Given the description of an element on the screen output the (x, y) to click on. 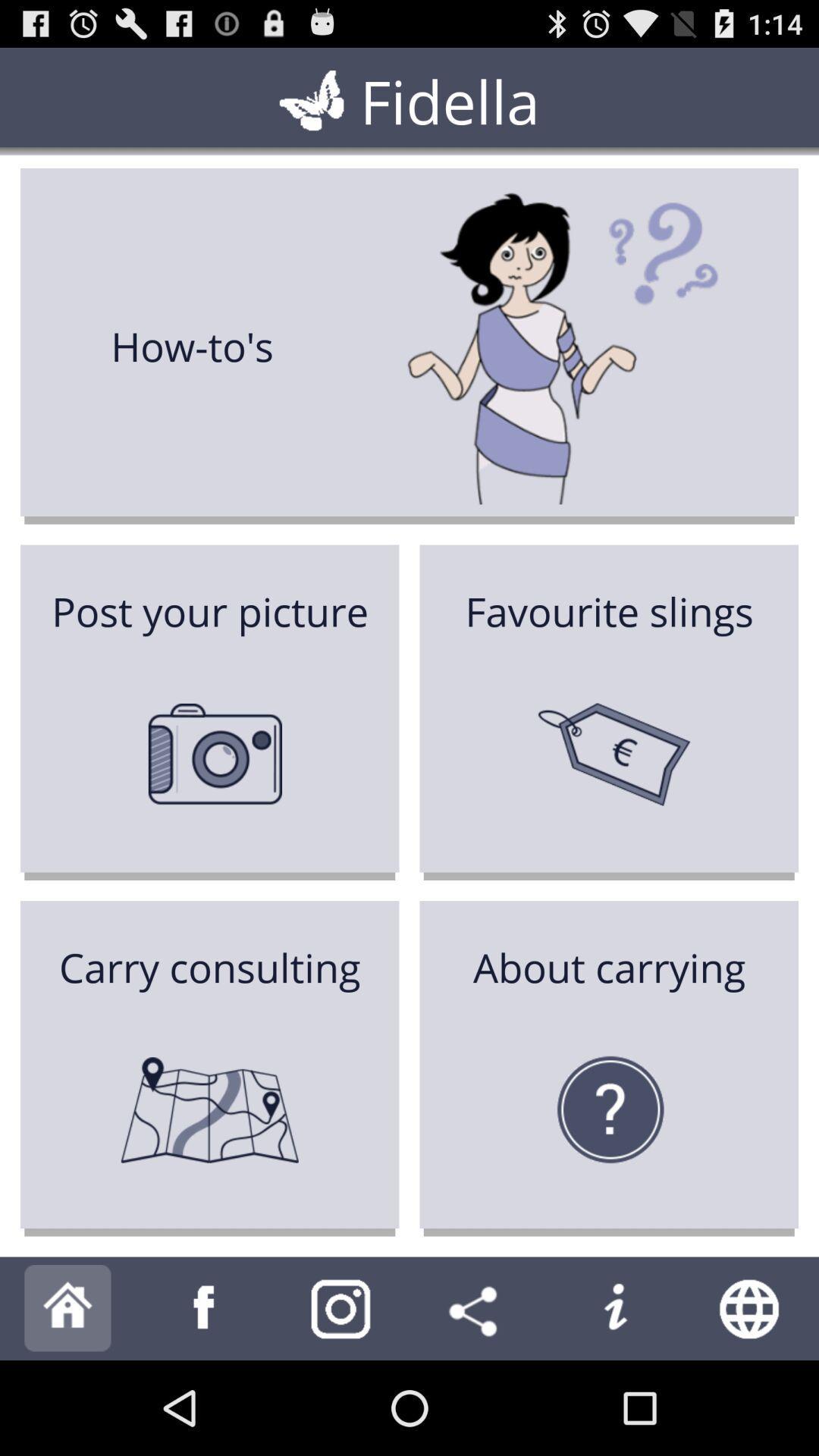
go to previous (204, 1308)
